Given the description of an element on the screen output the (x, y) to click on. 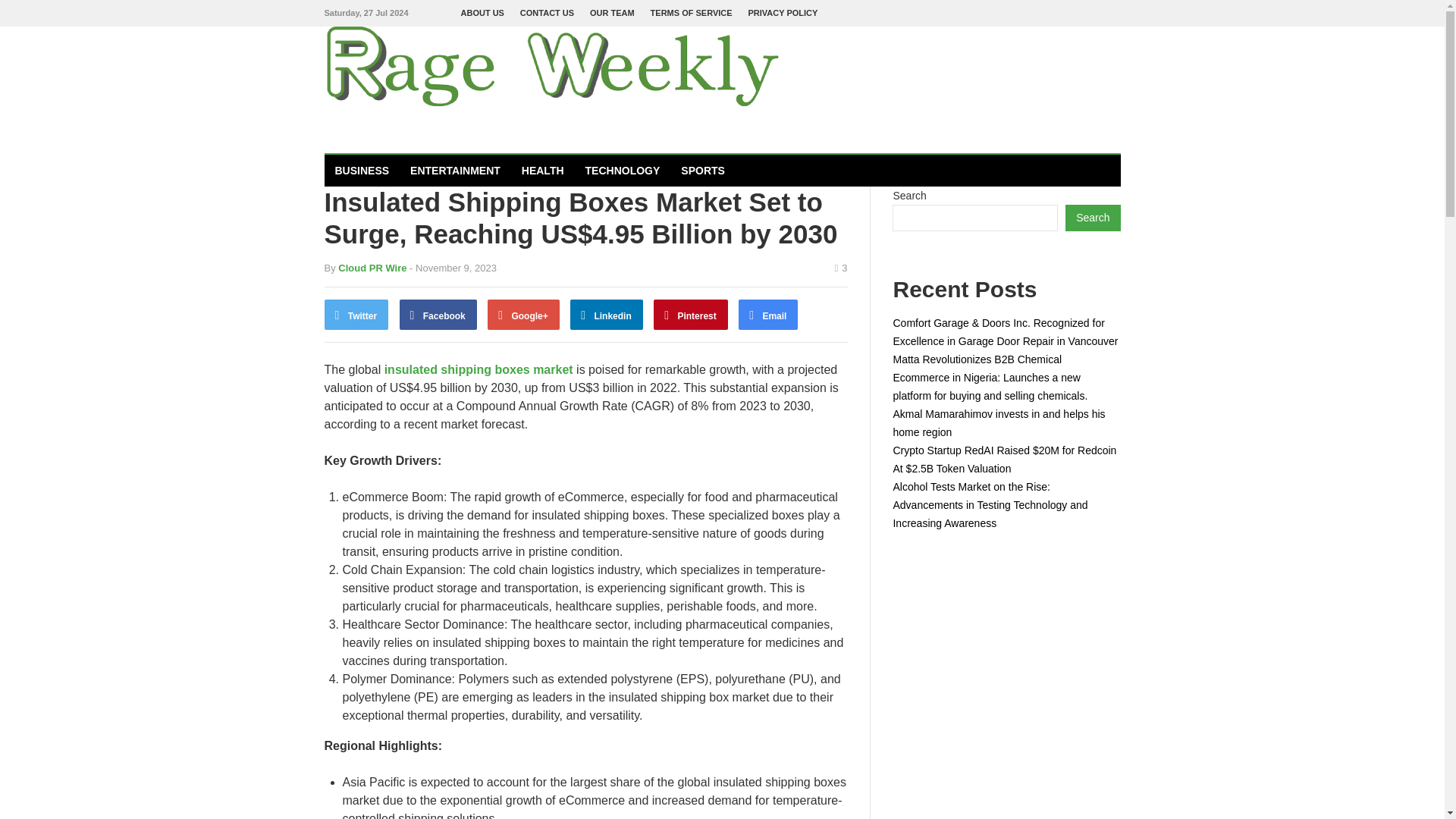
HEALTH (543, 170)
Thursday, November 9, 2023, 6:03 am (452, 267)
Cloud PR Wire (371, 267)
BUSINESS (362, 170)
TECHNOLOGY (623, 170)
Facebook (437, 314)
OUR TEAM (611, 13)
Email (767, 314)
Pinterest (690, 314)
TERMS OF SERVICE (691, 13)
ABOUT US (482, 13)
Twitter (356, 314)
Linkedin (606, 314)
insulated shipping boxes market (478, 369)
SPORTS (702, 170)
